Given the description of an element on the screen output the (x, y) to click on. 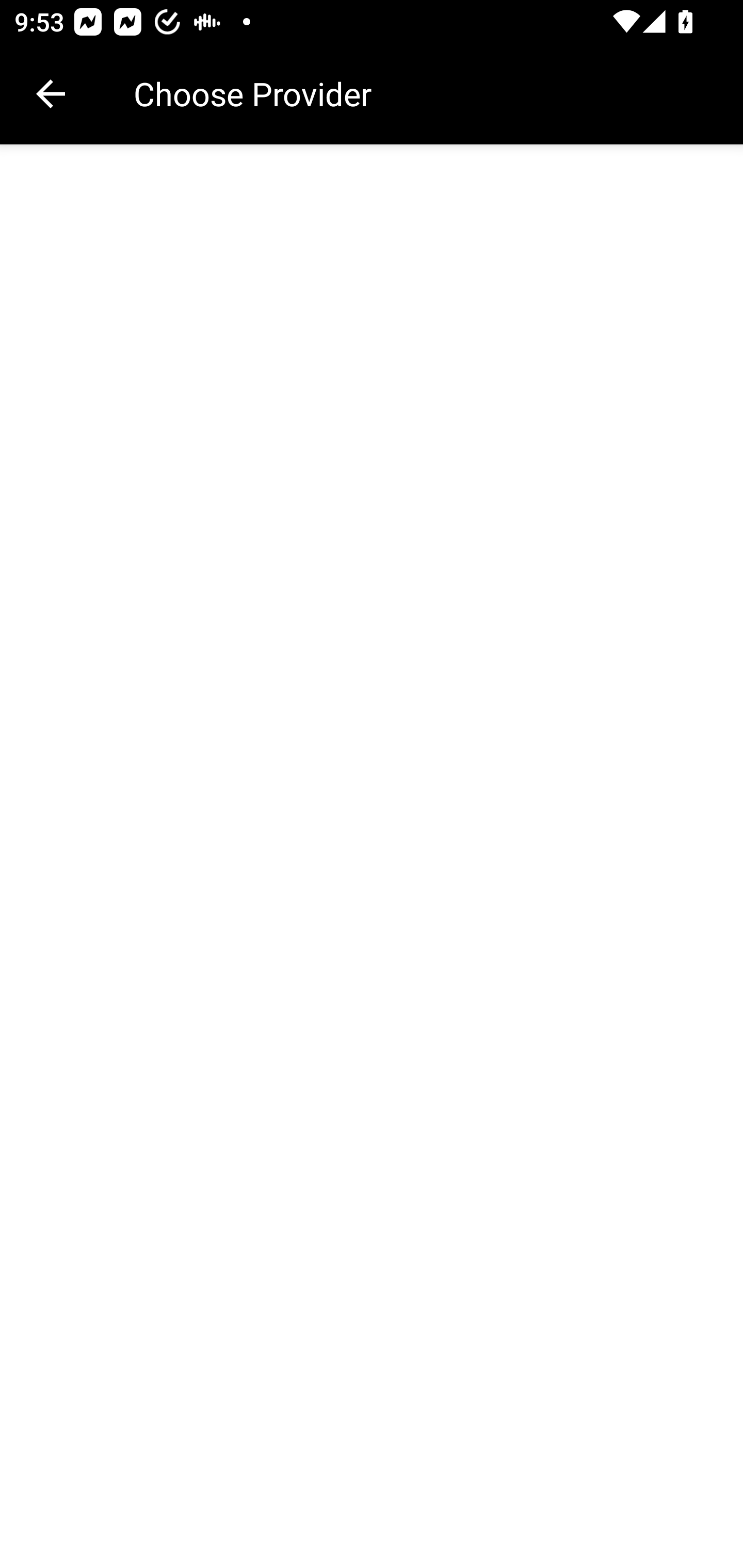
Navigate up (50, 93)
